Given the description of an element on the screen output the (x, y) to click on. 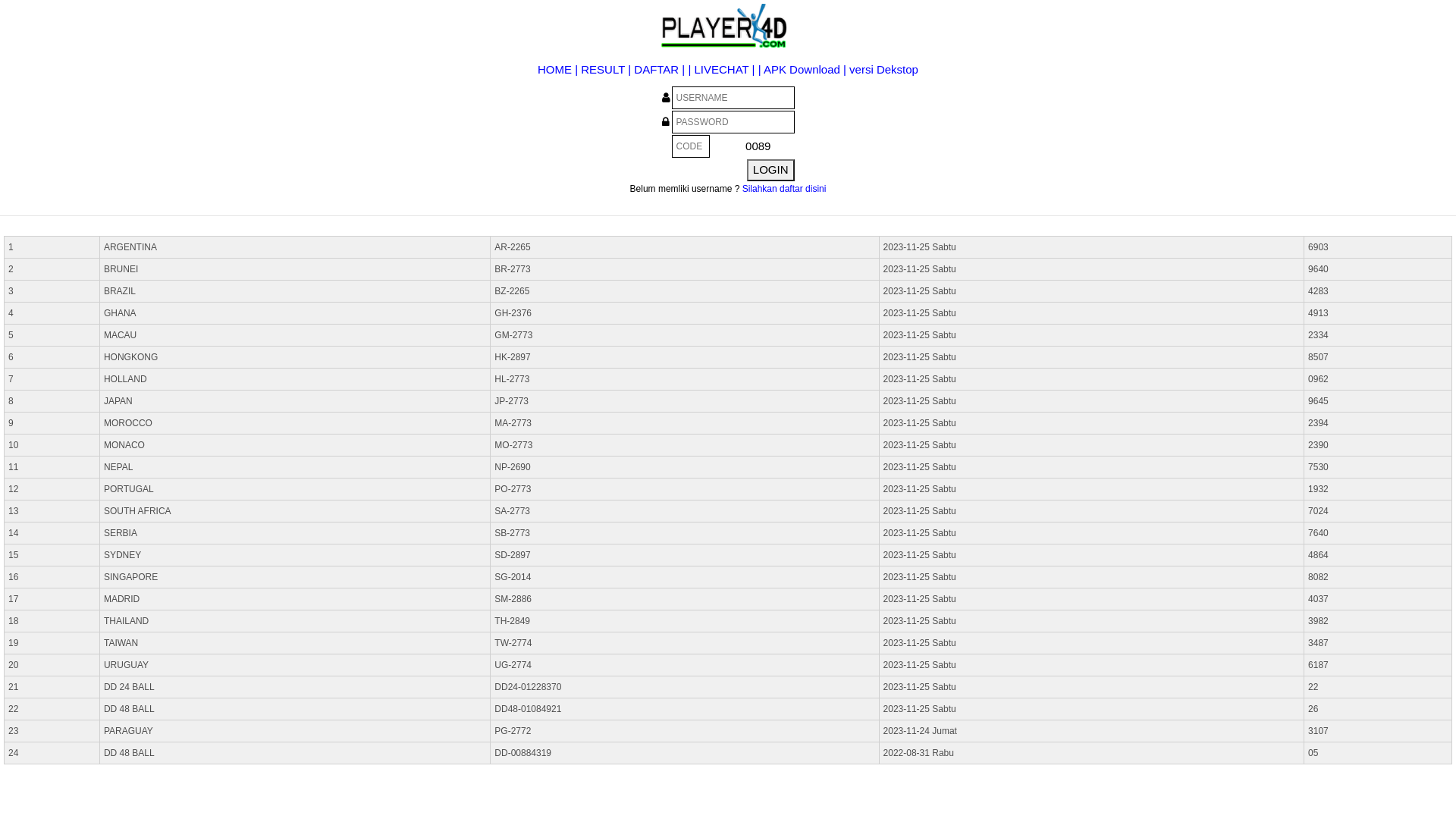
| APK Download | Element type: text (802, 68)
LOGIN Element type: text (770, 170)
DAFTAR | Element type: text (660, 68)
HOME | Element type: text (558, 68)
| LIVECHAT | Element type: text (720, 68)
Silahkan daftar disini Element type: text (784, 188)
RESULT | Element type: text (606, 68)
versi Dekstop Element type: text (883, 68)
